Given the description of an element on the screen output the (x, y) to click on. 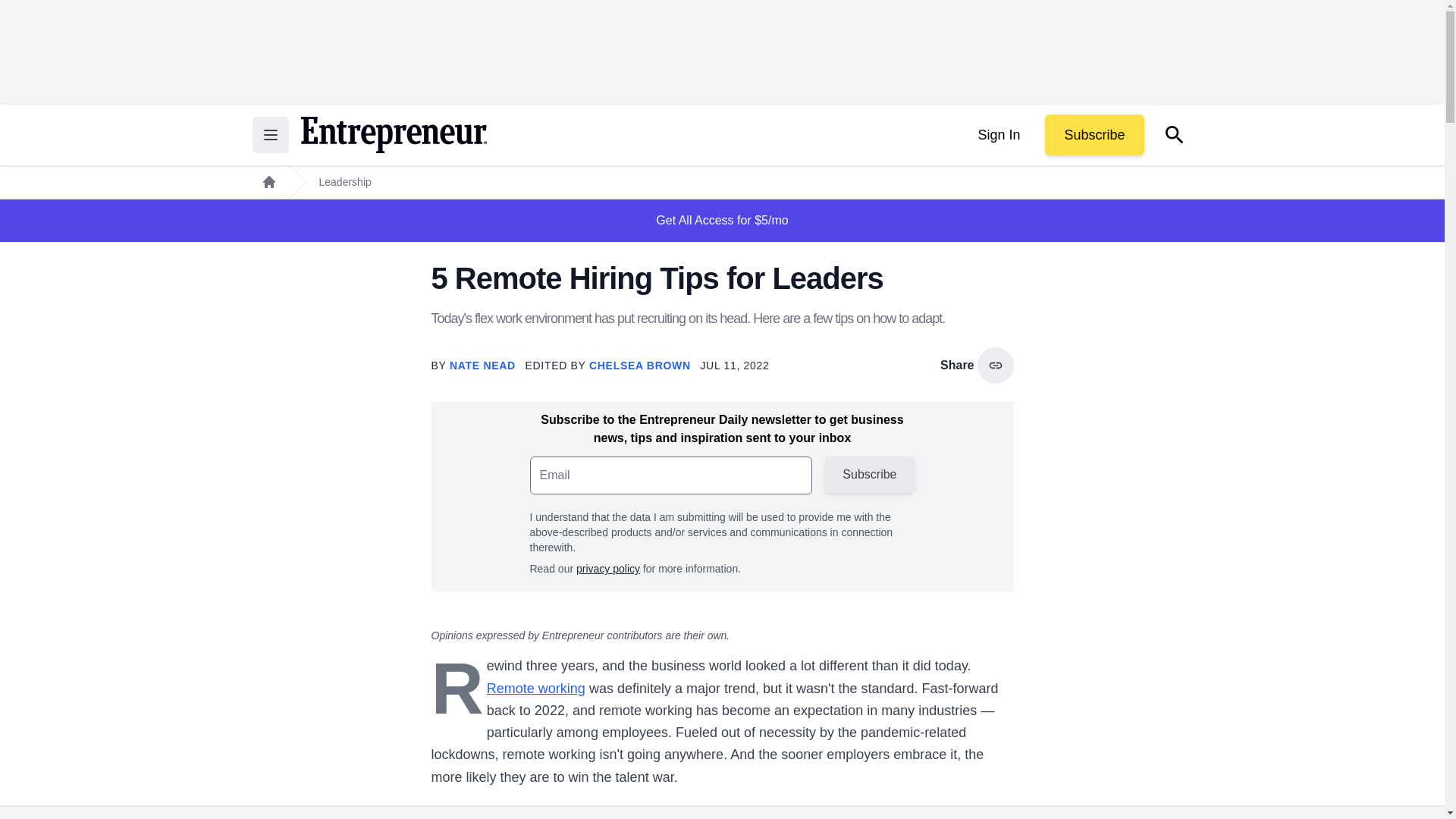
copy (994, 365)
Subscribe (1093, 134)
Return to the home page (392, 135)
Sign In (998, 134)
